Given the description of an element on the screen output the (x, y) to click on. 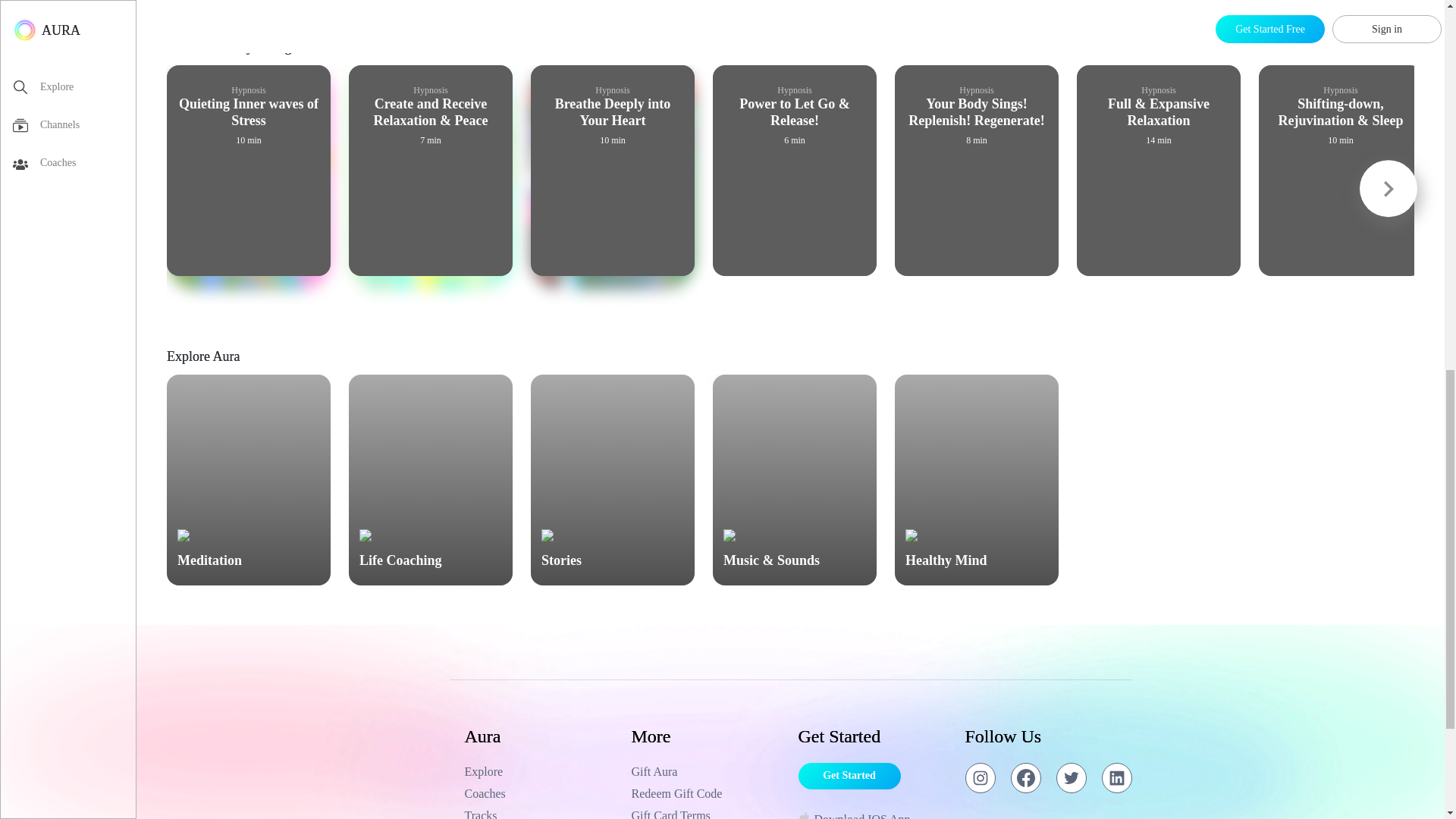
Coaches (539, 793)
Tracks (539, 812)
Explore (539, 771)
View All (1392, 51)
Gift Card Terms (706, 812)
Redeem Gift Code (706, 793)
Gift Aura (706, 771)
